Given the description of an element on the screen output the (x, y) to click on. 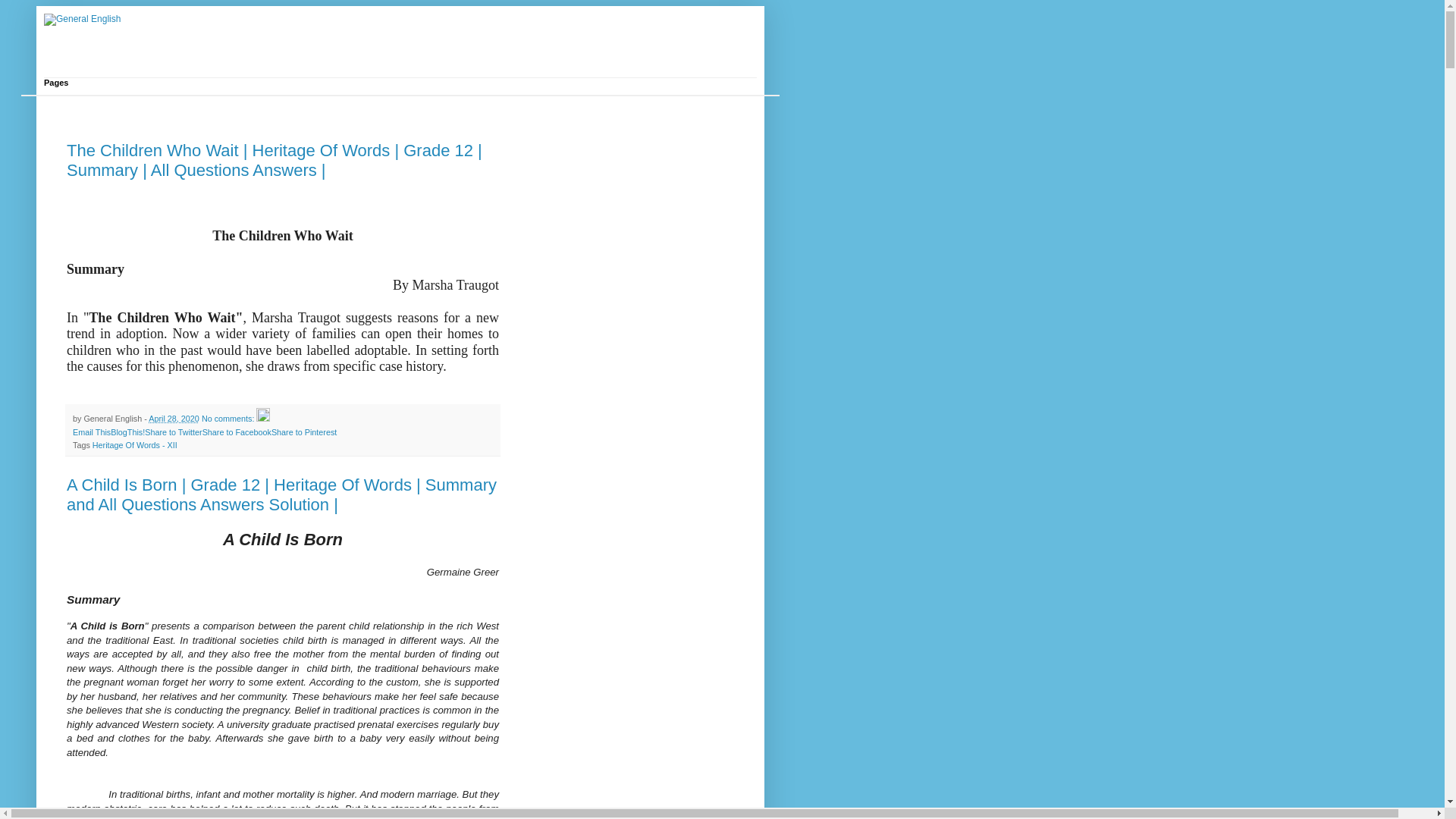
Share to Twitter (173, 431)
Edit Post (262, 418)
Share to Twitter (173, 431)
April 28, 2020 (173, 418)
Share to Pinterest (303, 431)
Share to Facebook (236, 431)
permanent link (173, 418)
Share to Pinterest (303, 431)
Heritage Of Words - XII (135, 444)
Email This (91, 431)
BlogThis! (127, 431)
Share to Facebook (236, 431)
No comments: (229, 418)
Email This (91, 431)
BlogThis! (127, 431)
